Given the description of an element on the screen output the (x, y) to click on. 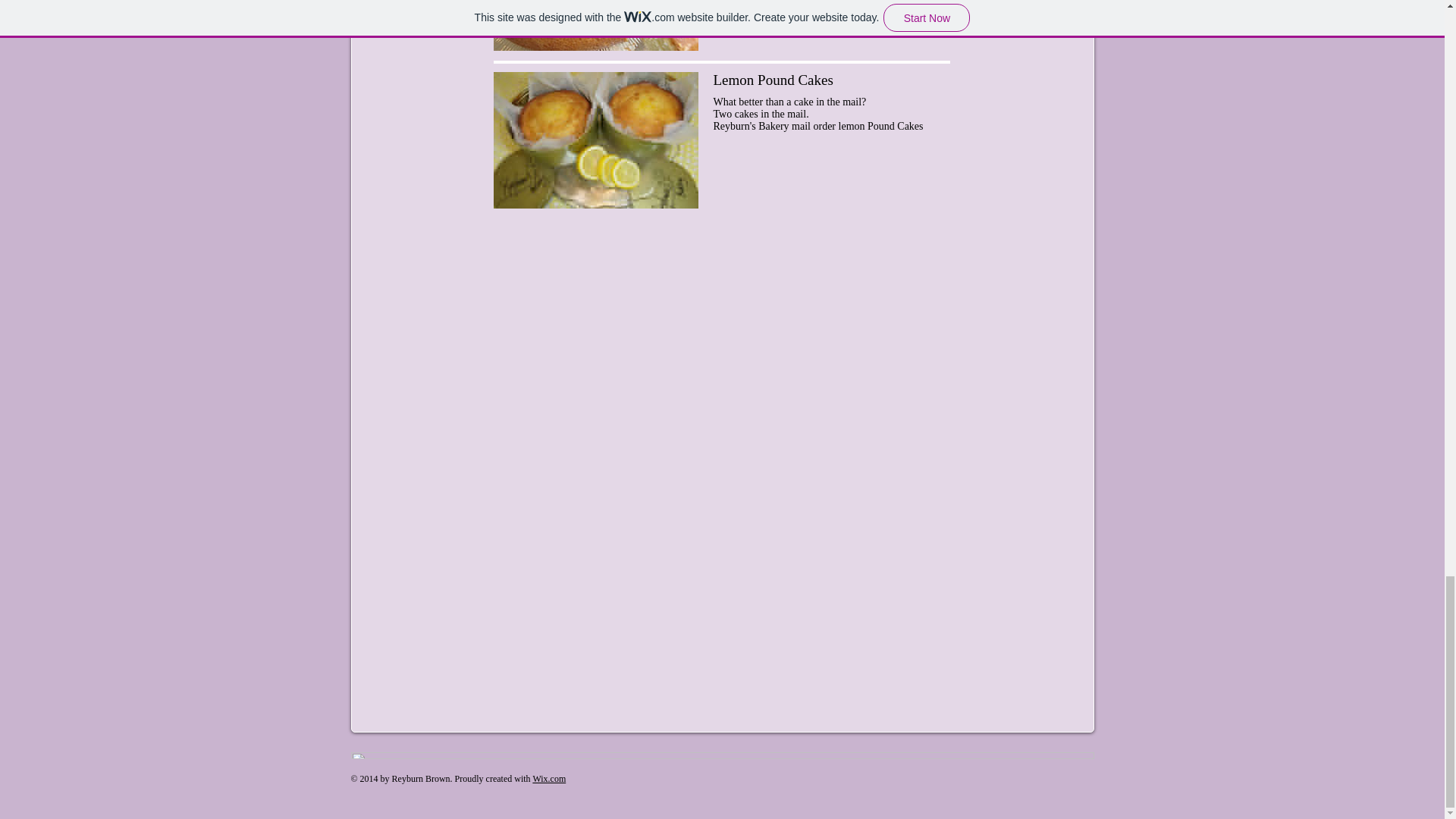
Wix.com (549, 778)
GEDC0677.JPG (595, 140)
GEDC1177.JPG (595, 25)
